Given the description of an element on the screen output the (x, y) to click on. 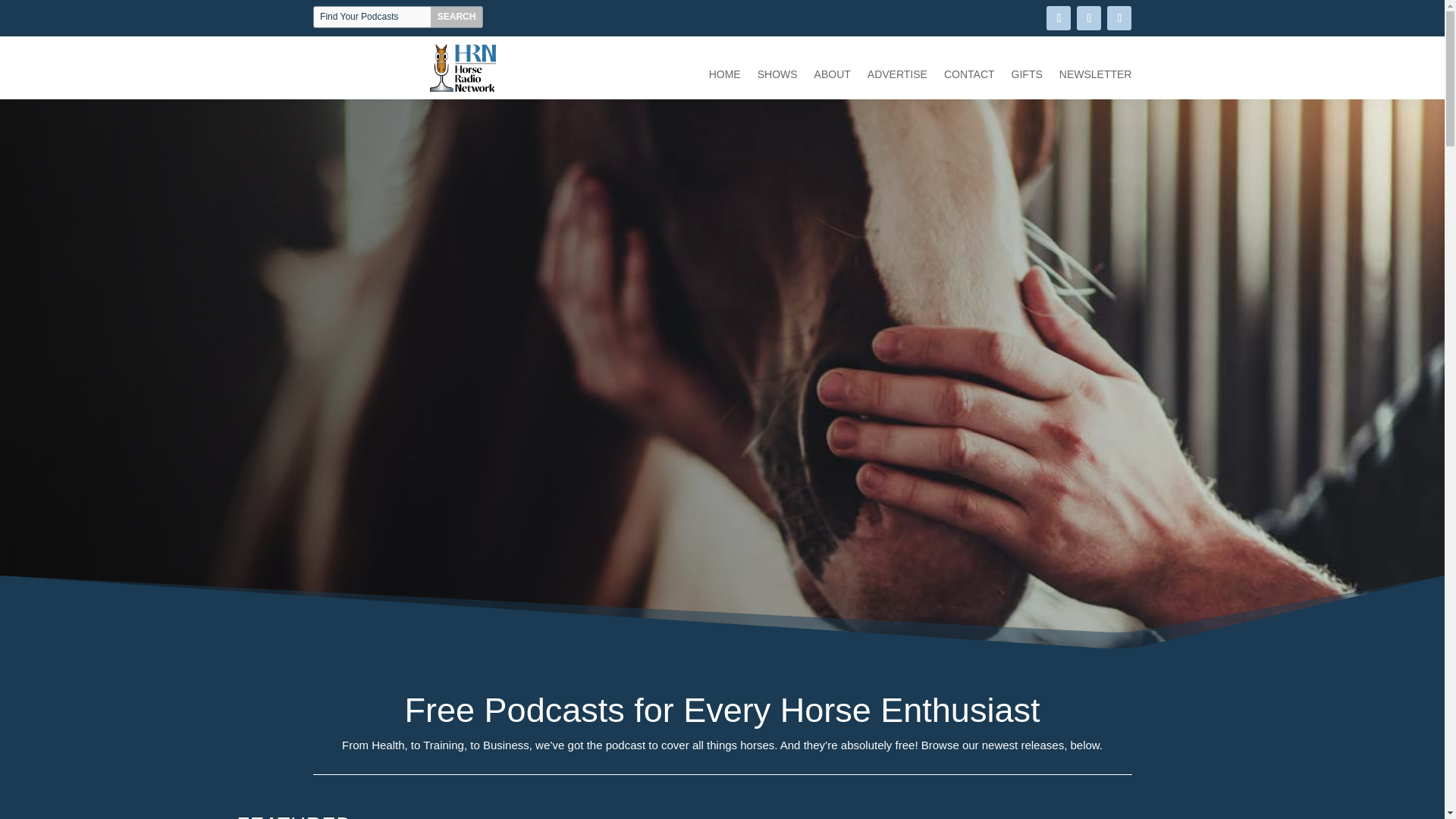
ABOUT (831, 76)
Follow on X (1088, 17)
Search (455, 16)
ADVERTISE (897, 76)
SHOWS (777, 76)
NEWSLETTER (1095, 76)
Follow on Facebook (1058, 17)
Follow on Instagram (1118, 17)
CONTACT (968, 76)
GIFTS (1026, 76)
